Given the description of an element on the screen output the (x, y) to click on. 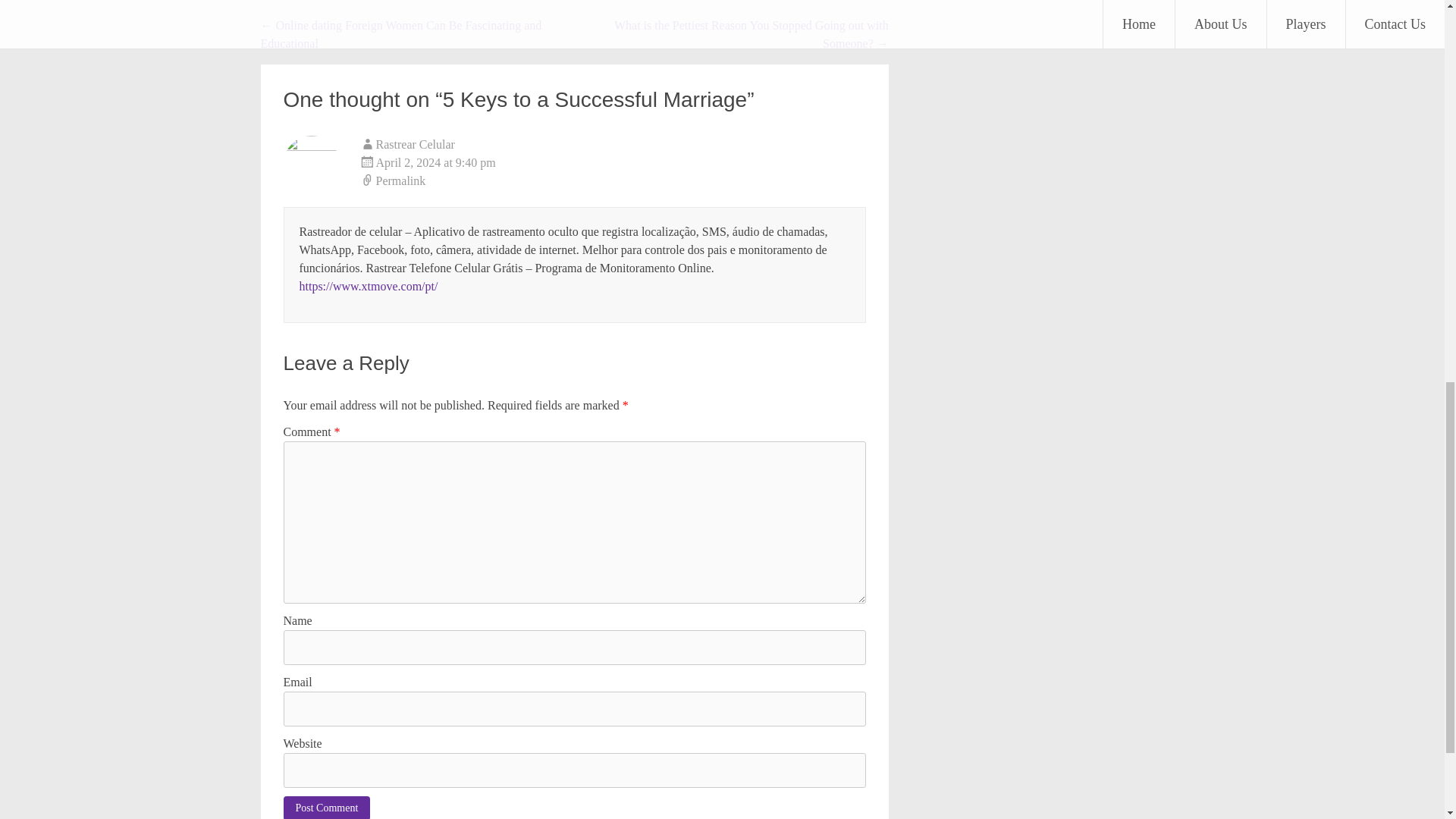
Permalink (612, 180)
Post Comment (327, 807)
Post Comment (327, 807)
Rastrear Celular (414, 144)
